Given the description of an element on the screen output the (x, y) to click on. 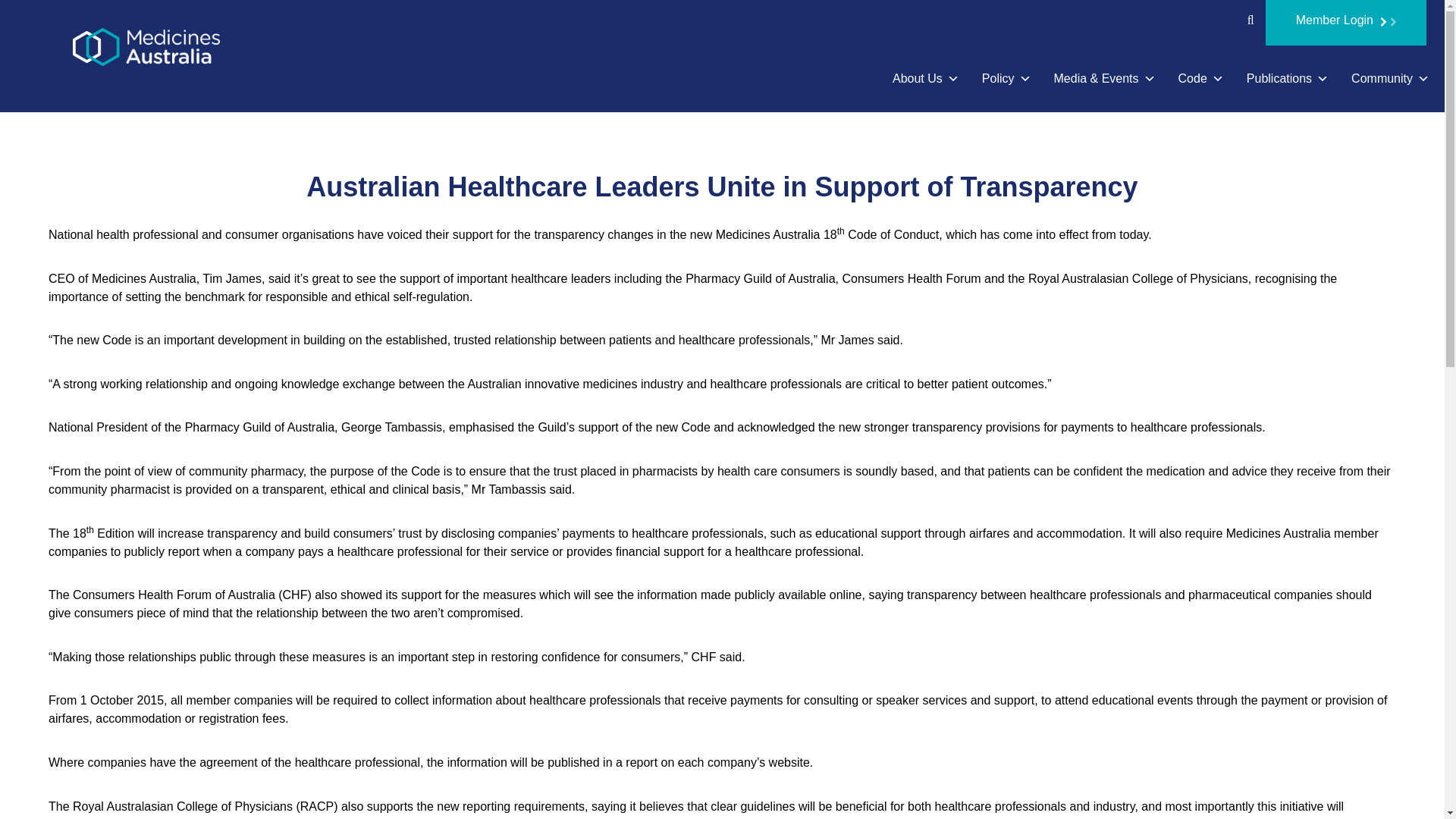
Member Login (1345, 22)
About Us (925, 78)
Policy (1006, 78)
